Given the description of an element on the screen output the (x, y) to click on. 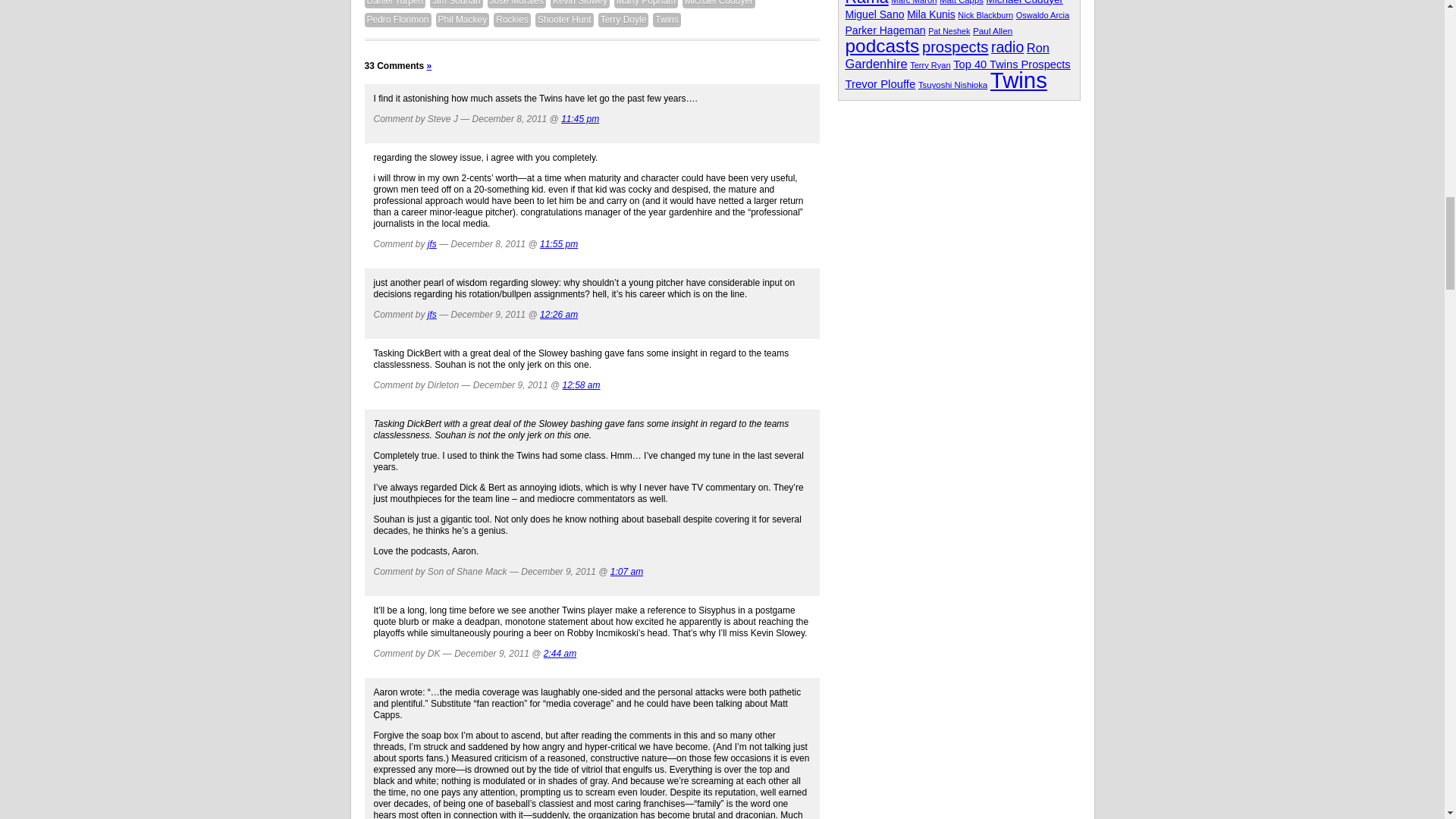
Jim Souhan (455, 4)
12:58 am (580, 385)
11:45 pm (579, 118)
Pedro Florimon (397, 20)
Terry Doyle (623, 20)
Twins (666, 20)
Shooter Hunt (564, 20)
12:26 am (559, 314)
Rockies (512, 20)
Marty Popham (646, 4)
Phil Mackey (462, 20)
Michael Cuddyer (718, 4)
11:55 pm (559, 244)
Daniel Turpen (394, 4)
Kevin Slowey (580, 4)
